Given the description of an element on the screen output the (x, y) to click on. 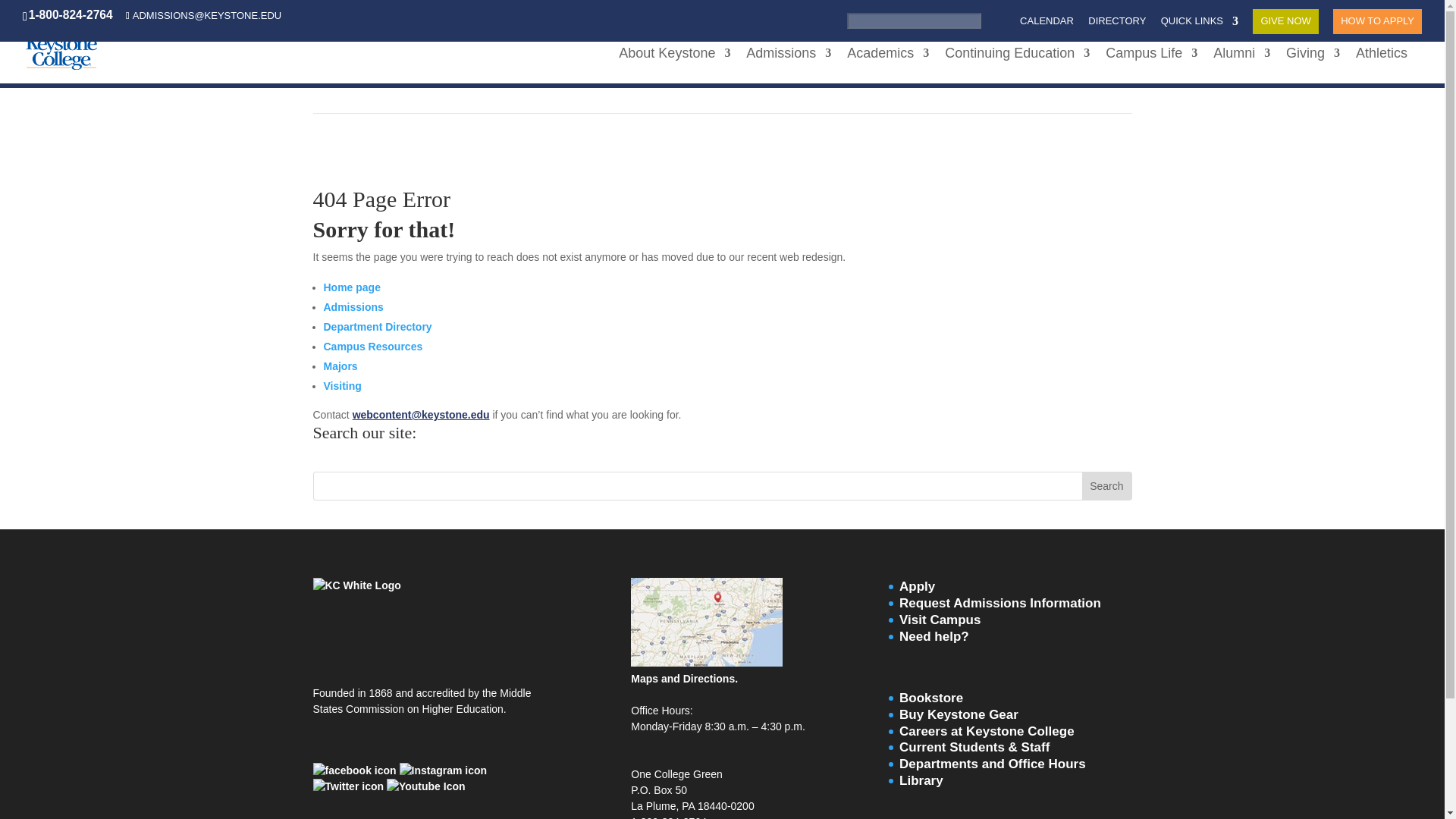
Search (994, 20)
GIVE NOW (1285, 24)
Search (994, 20)
Maps (706, 662)
DIRECTORY (1116, 24)
HOW TO APPLY (1376, 24)
CALENDAR (1047, 24)
Search (1106, 485)
Search (994, 20)
Academics (887, 65)
